Given the description of an element on the screen output the (x, y) to click on. 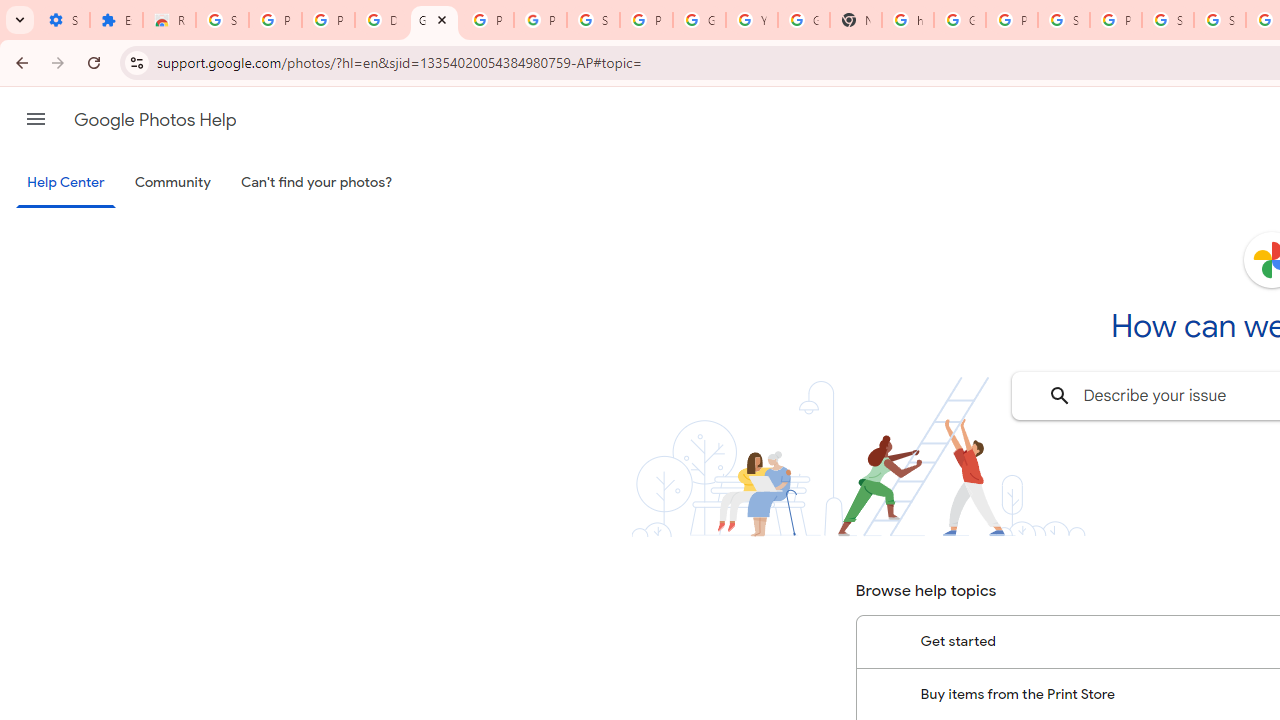
Delete photos & videos - Computer - Google Photos Help (381, 20)
New Tab (855, 20)
Community (171, 183)
